Given the description of an element on the screen output the (x, y) to click on. 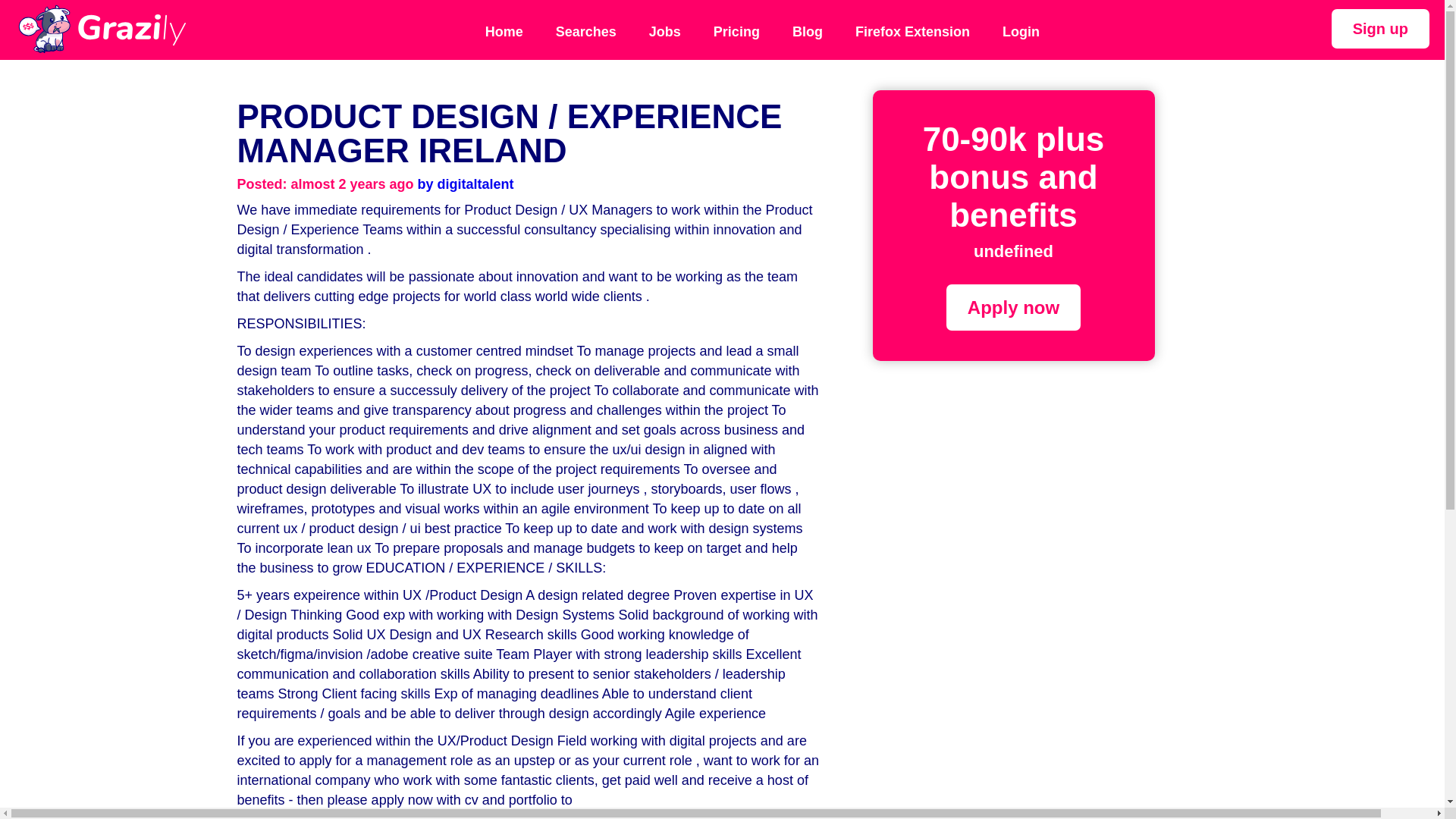
Home (504, 31)
Login (1021, 31)
by digitaltalent (465, 183)
Searches (585, 31)
Firefox Extension (912, 31)
Sign up (1380, 28)
Jobs (665, 31)
Apply now (1013, 307)
Pricing (736, 31)
Blog (807, 31)
